Given the description of an element on the screen output the (x, y) to click on. 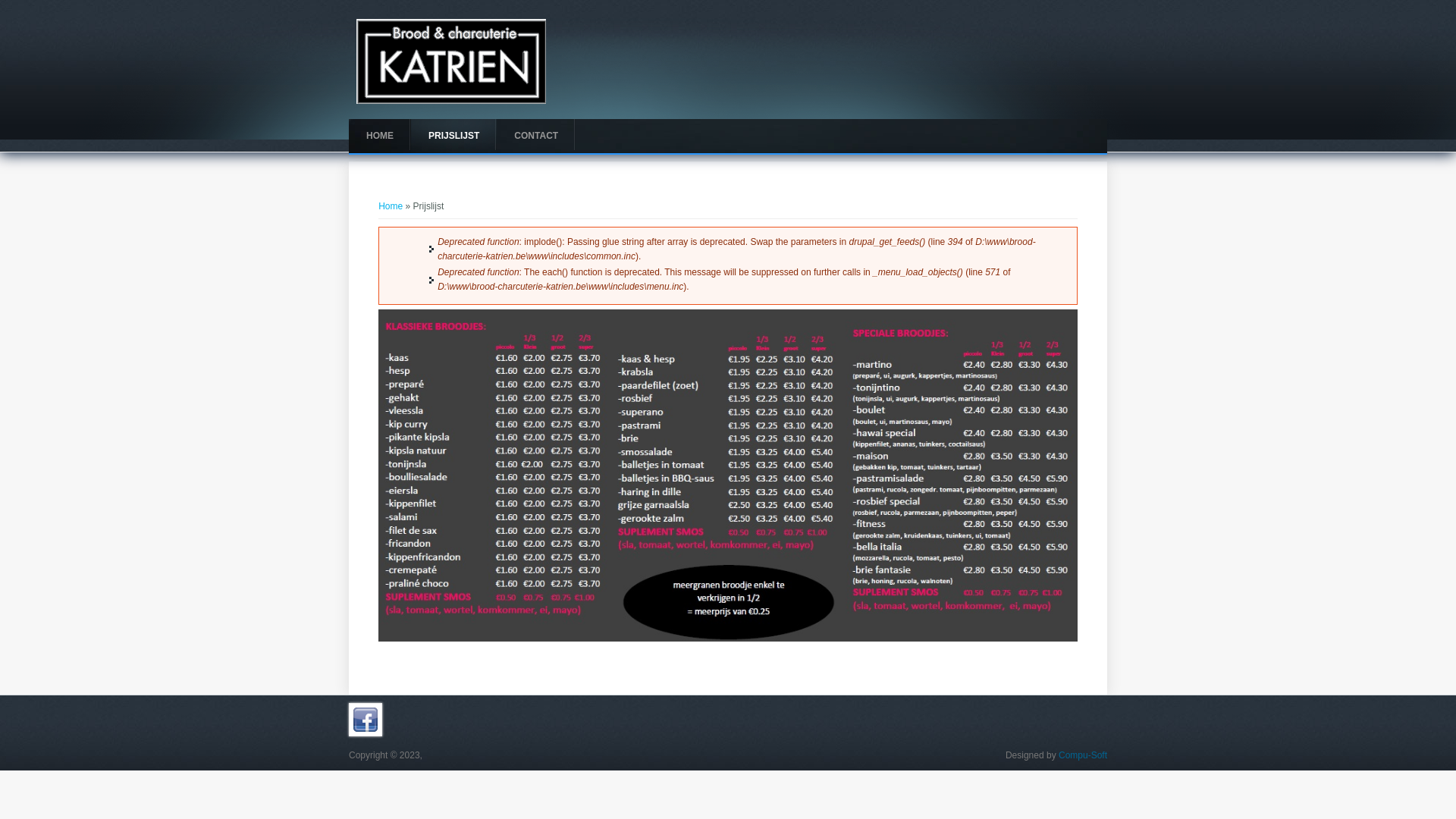
HOME Element type: text (379, 136)
Home Element type: hover (451, 100)
CONTACT Element type: text (535, 136)
Home Element type: text (390, 205)
Compu-Soft Element type: text (1082, 754)
PRIJSLIJST Element type: text (453, 136)
Visit  on Facebook Element type: hover (365, 733)
